Given the description of an element on the screen output the (x, y) to click on. 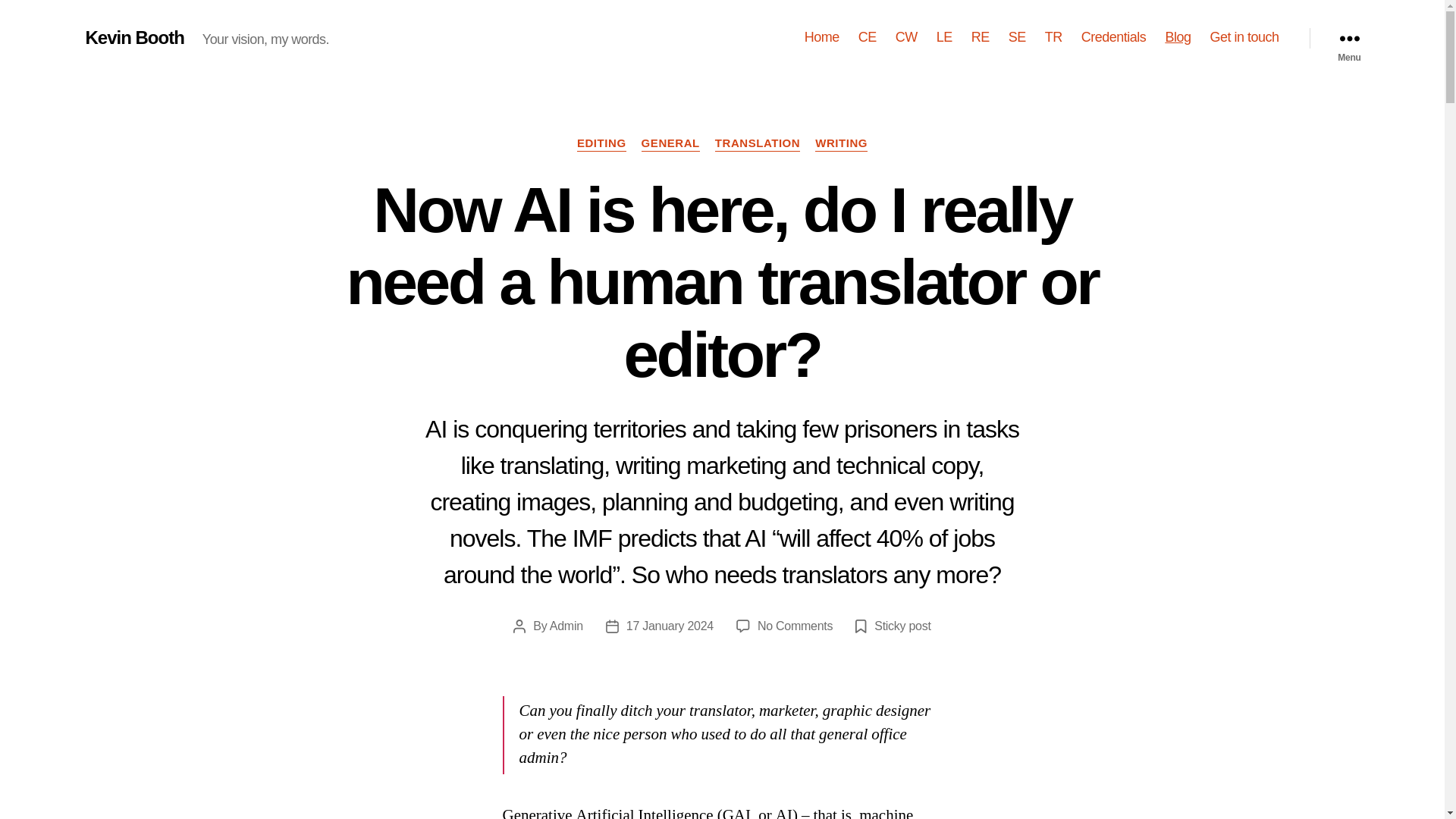
Credentials (1114, 37)
Blog (1177, 37)
TR (1053, 37)
LE (944, 37)
Get in touch (1243, 37)
SE (1017, 37)
EDITING (601, 143)
CE (867, 37)
Menu (1348, 37)
Kevin Booth (133, 37)
